Given the description of an element on the screen output the (x, y) to click on. 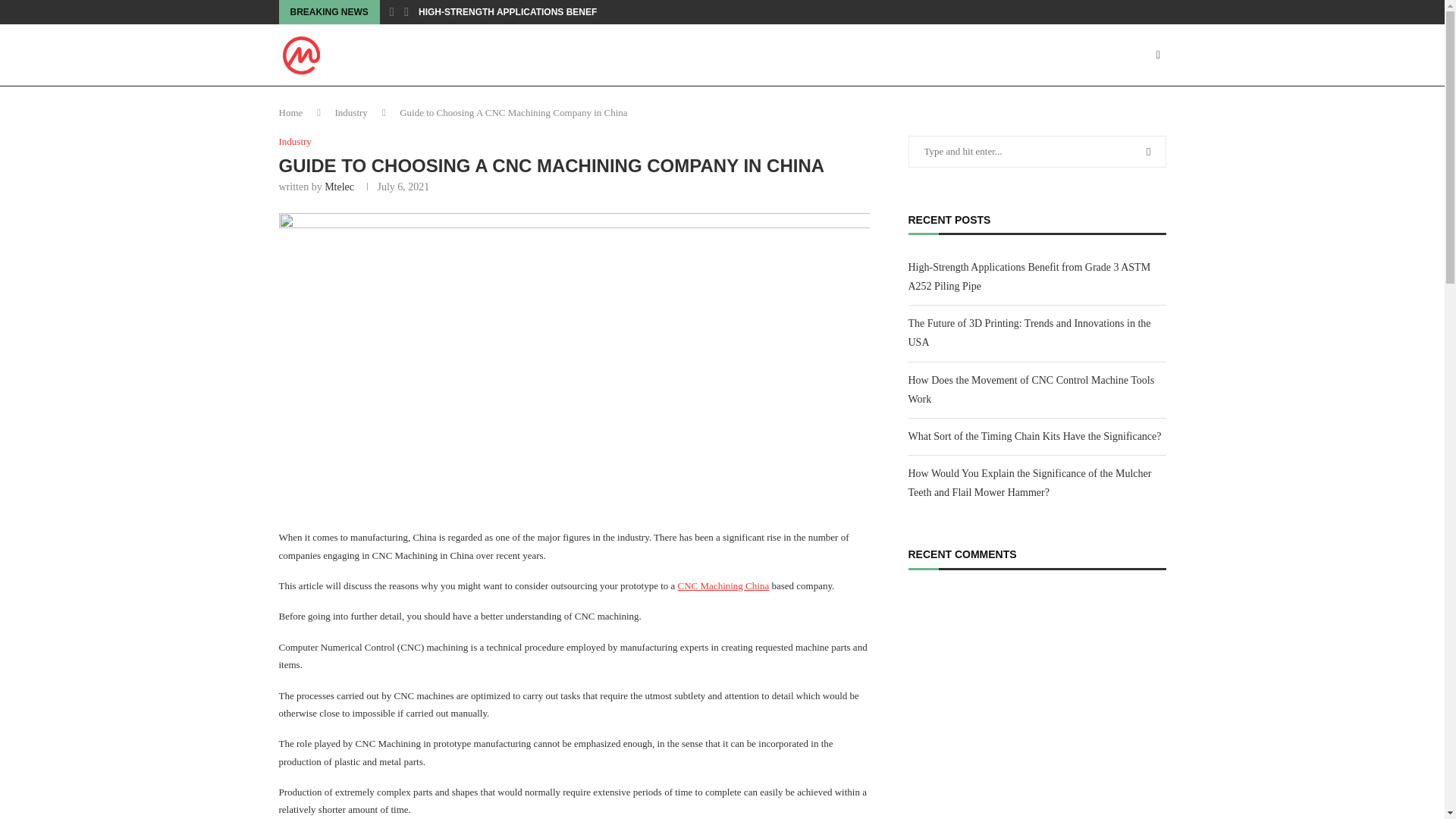
HIGH-STRENGTH APPLICATIONS BENEFIT FROM GRADE 3 ASTM A252... (577, 12)
Home (290, 112)
Industry (295, 141)
Industry (351, 112)
Mtelec (338, 186)
CNC Machining China (724, 585)
